Given the description of an element on the screen output the (x, y) to click on. 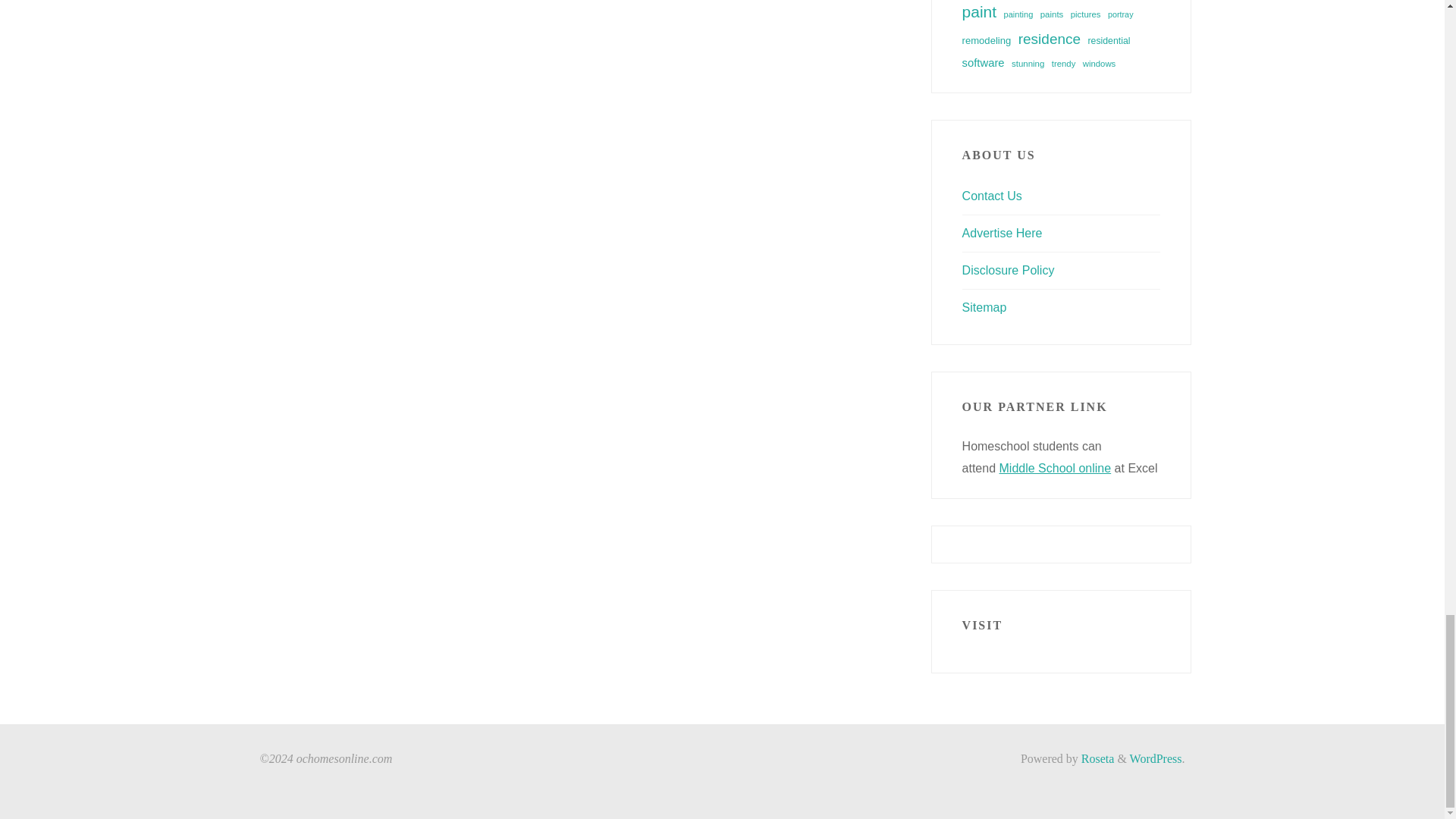
Semantic Personal Publishing Platform (1155, 758)
Roseta WordPress Theme by Cryout Creations (1096, 758)
